Given the description of an element on the screen output the (x, y) to click on. 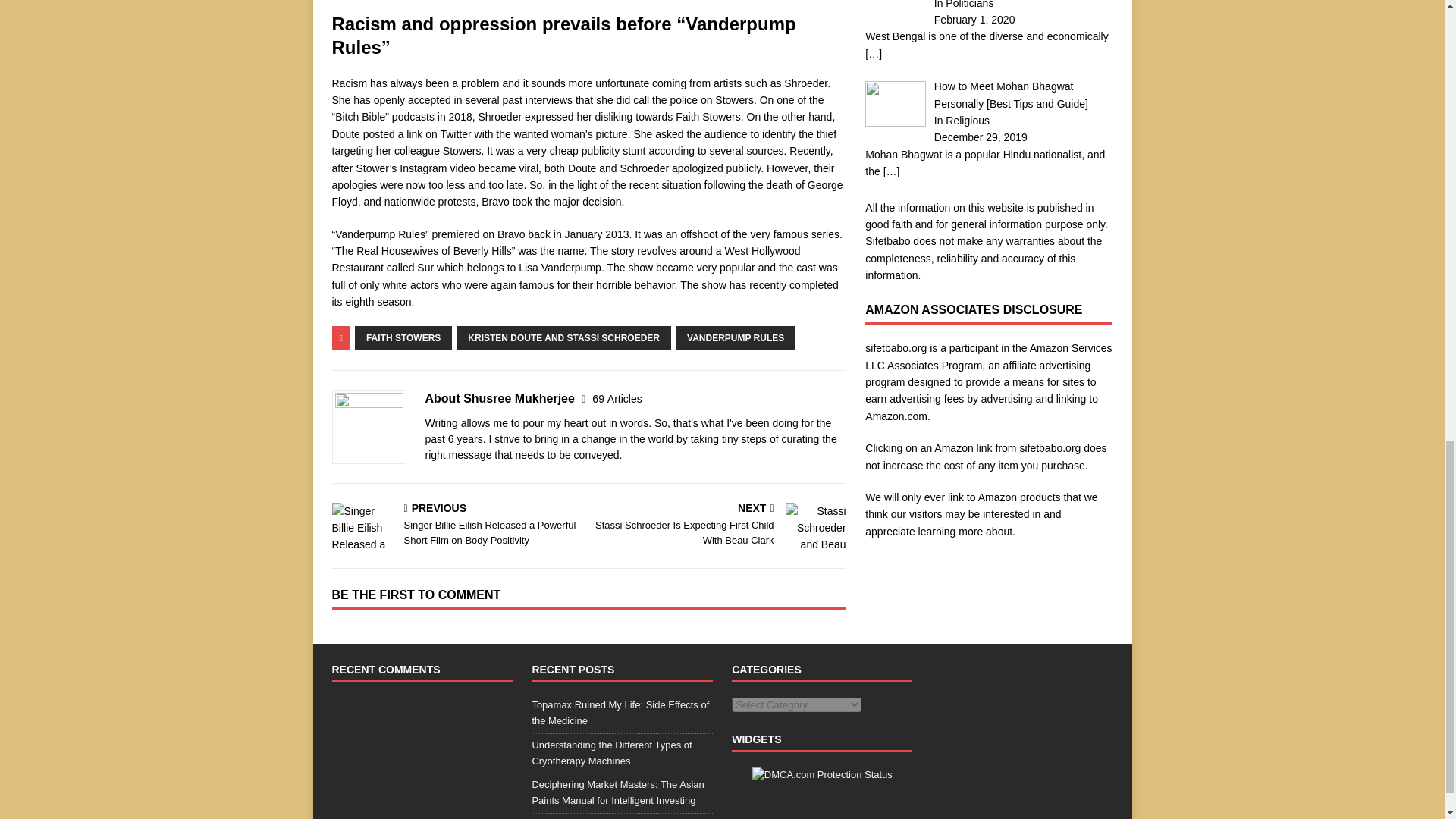
VANDERPUMP RULES (734, 337)
KRISTEN DOUTE AND STASSI SCHROEDER (564, 337)
More articles written by Shusree Mukherjee' (617, 398)
FAITH STOWERS (403, 337)
DMCA.com Protection Status (822, 774)
69 Articles (617, 398)
